Given the description of an element on the screen output the (x, y) to click on. 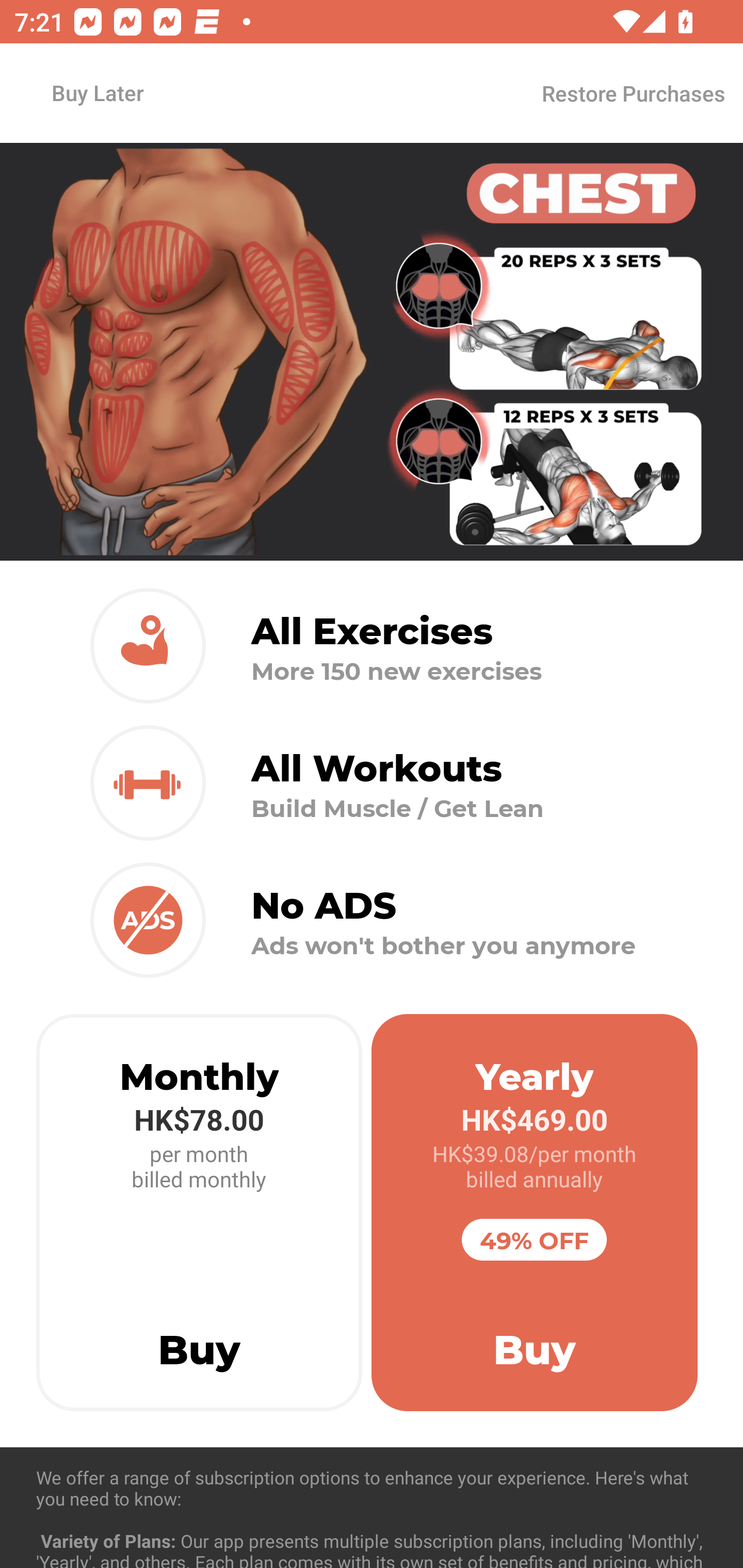
Restore Purchases (632, 92)
Buy Later (96, 92)
Monthly HK$78.00 per month
billed monthly Buy (199, 1212)
